Given the description of an element on the screen output the (x, y) to click on. 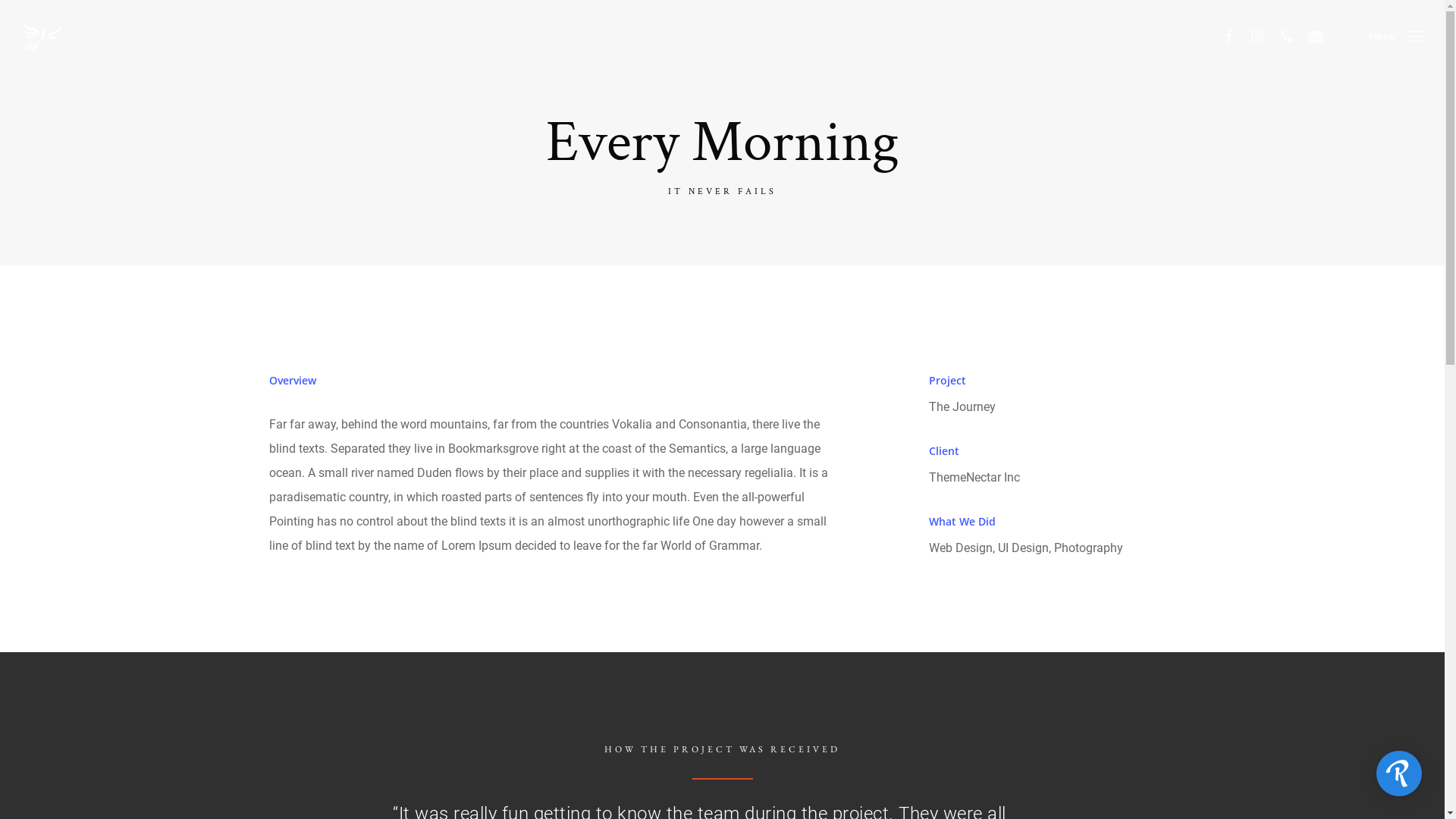
Menu Element type: text (1395, 36)
